Given the description of an element on the screen output the (x, y) to click on. 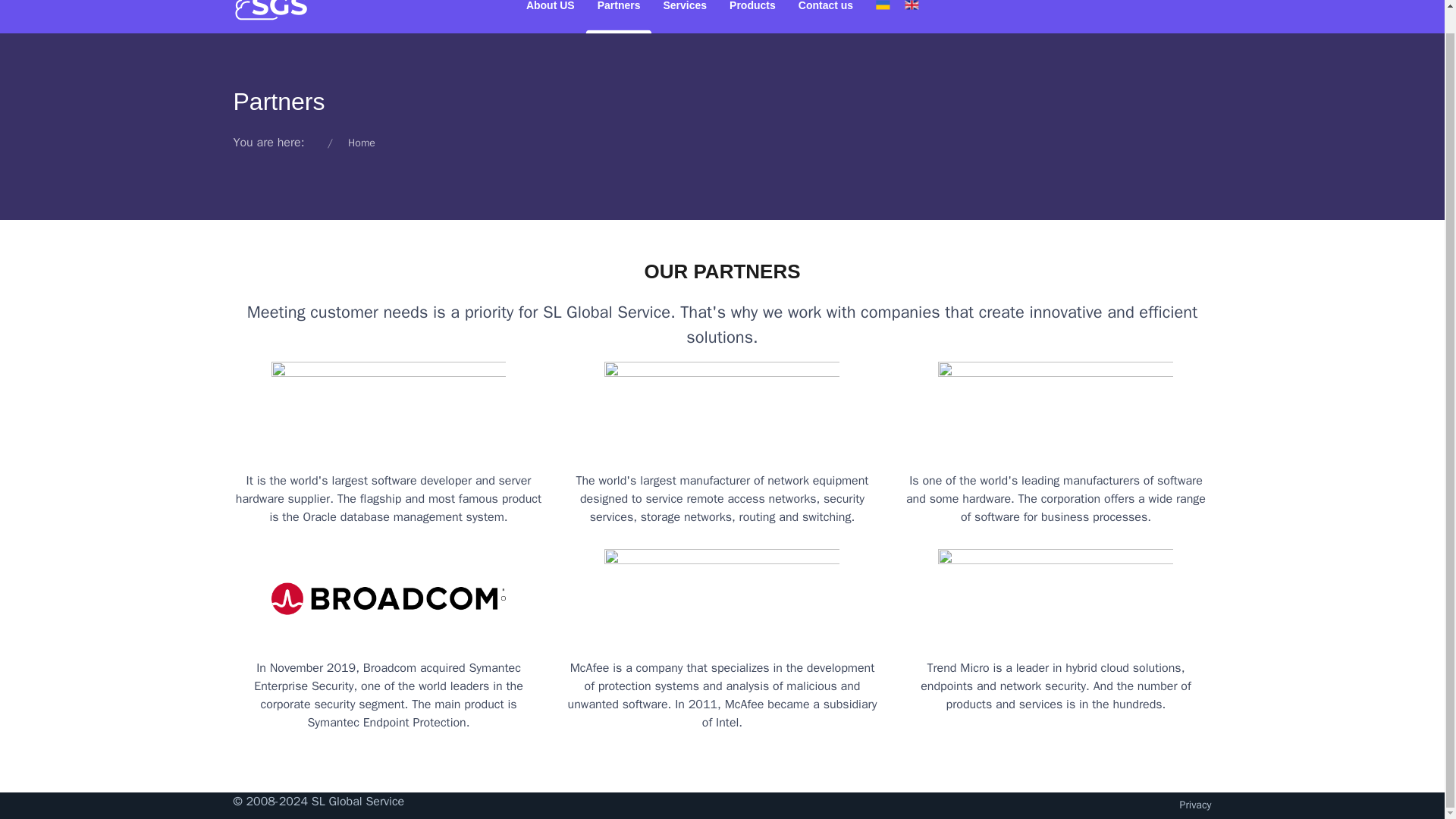
Services (683, 16)
Contact us (825, 16)
Products (752, 16)
Partners (619, 16)
About US (550, 16)
Home (361, 142)
